Given the description of an element on the screen output the (x, y) to click on. 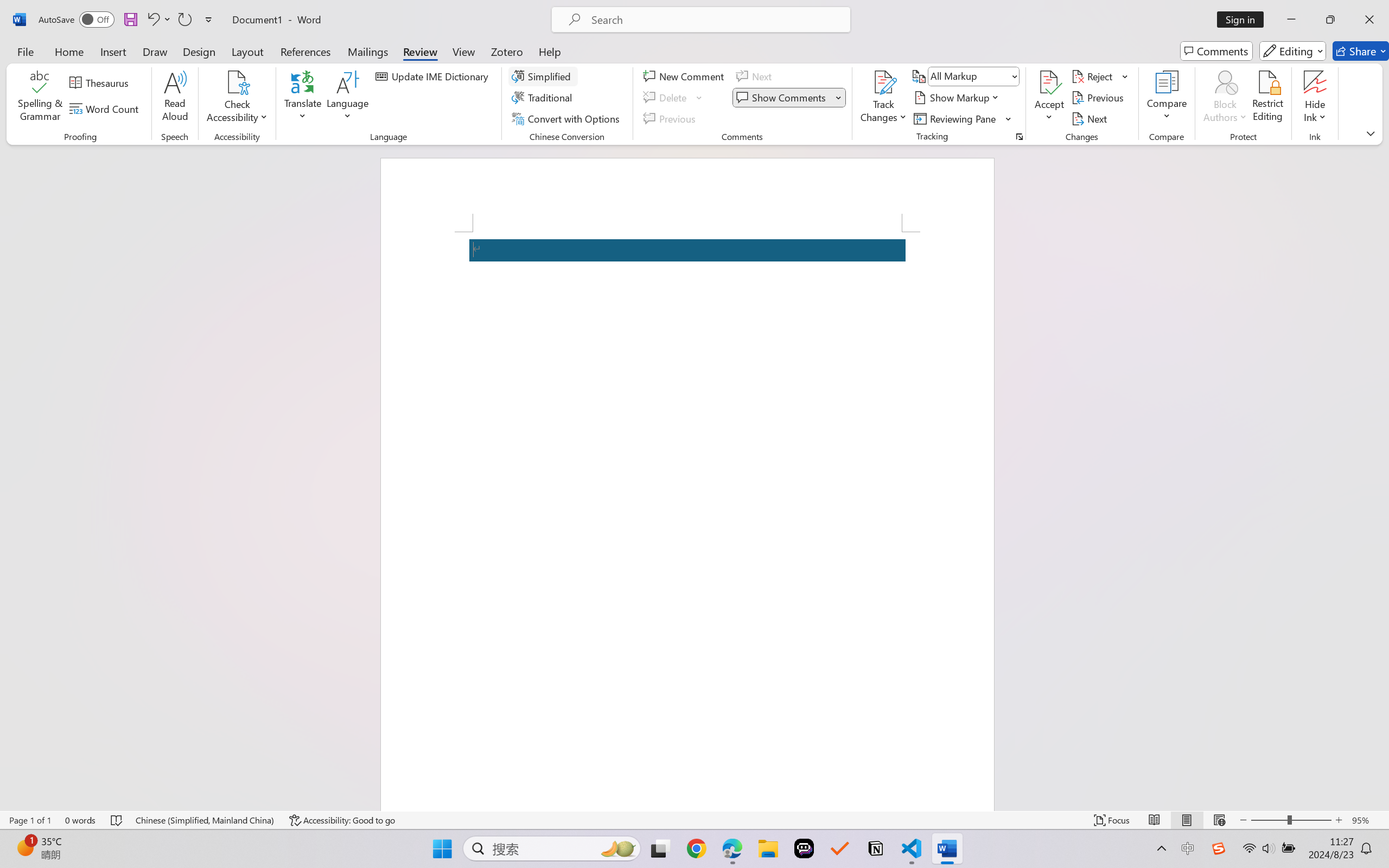
Editing (1292, 50)
Repeat TCSCTranslate (184, 19)
Delete (666, 97)
Traditional (543, 97)
Word Count (105, 108)
Change Tracking Options... (1019, 136)
Reject (1100, 75)
Read Aloud (174, 97)
